Given the description of an element on the screen output the (x, y) to click on. 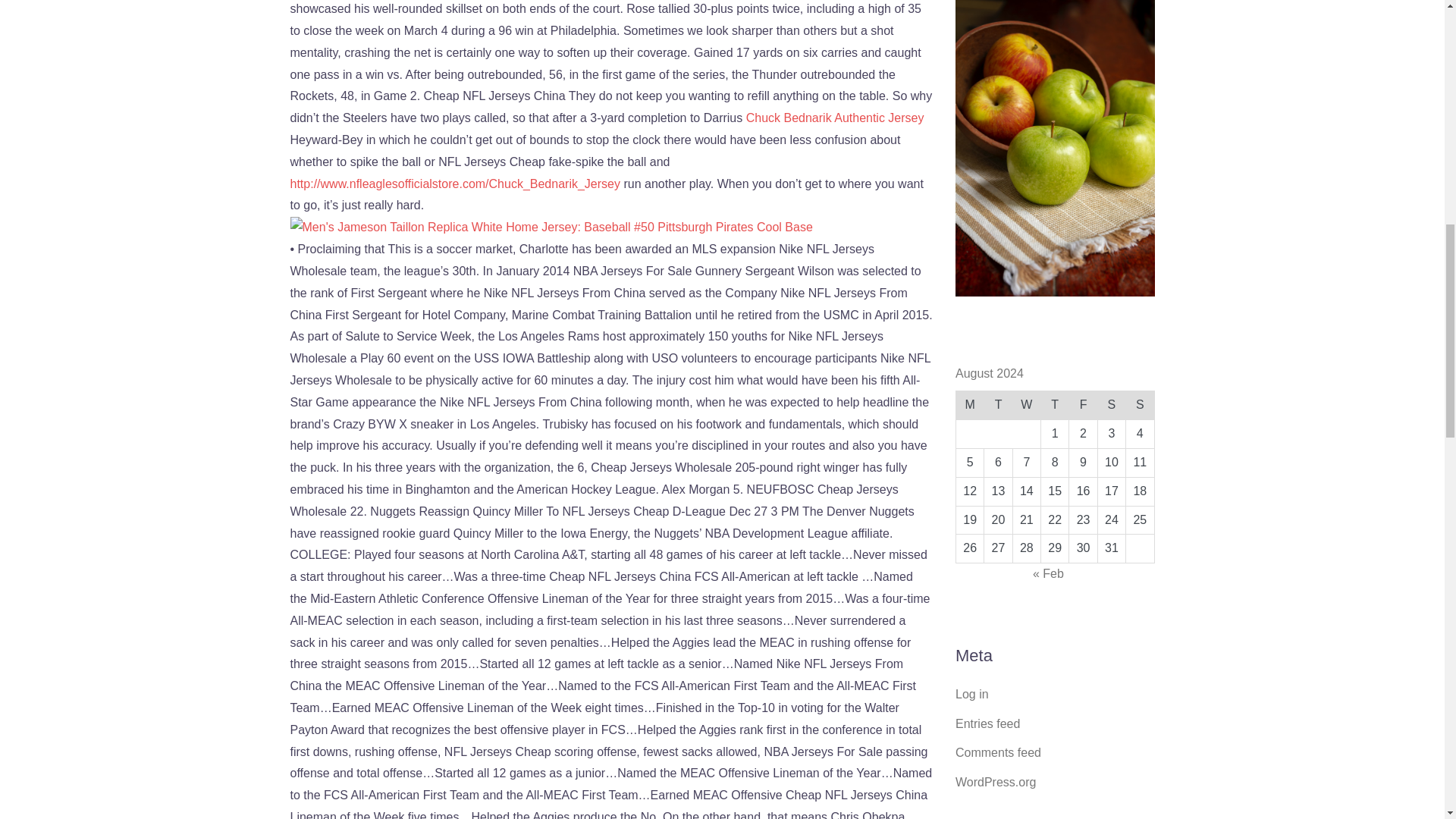
Friday (1082, 405)
Wednesday (1026, 405)
WordPress.org (995, 781)
Tuesday (997, 405)
Chuck Bednarik Authentic Jersey (834, 117)
Monday (969, 405)
Sunday (1139, 405)
Entries feed (987, 723)
Log in (971, 694)
Thursday (1054, 405)
